Given the description of an element on the screen output the (x, y) to click on. 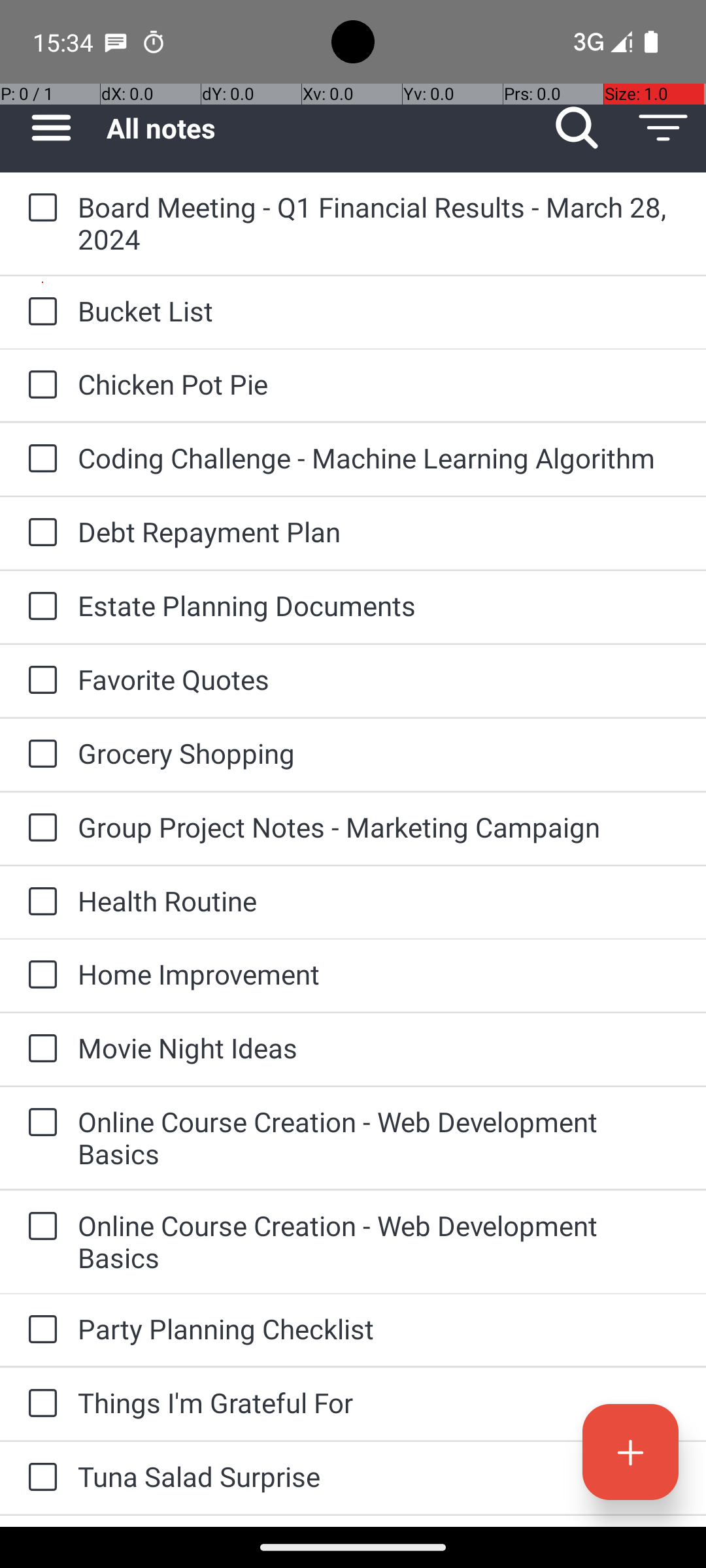
to-do: Bucket List Element type: android.widget.CheckBox (38, 312)
Bucket List Element type: android.widget.TextView (378, 310)
to-do: Chicken Pot Pie Element type: android.widget.CheckBox (38, 385)
Chicken Pot Pie Element type: android.widget.TextView (378, 383)
to-do: Debt Repayment Plan Element type: android.widget.CheckBox (38, 533)
Debt Repayment Plan Element type: android.widget.TextView (378, 531)
to-do: Estate Planning Documents Element type: android.widget.CheckBox (38, 606)
Estate Planning Documents Element type: android.widget.TextView (378, 604)
to-do: Favorite Quotes Element type: android.widget.CheckBox (38, 680)
Favorite Quotes Element type: android.widget.TextView (378, 678)
to-do: Grocery Shopping Element type: android.widget.CheckBox (38, 754)
to-do: Health Routine Element type: android.widget.CheckBox (38, 902)
to-do: Home Improvement Element type: android.widget.CheckBox (38, 975)
Home Improvement Element type: android.widget.TextView (378, 973)
to-do: Movie Night Ideas Element type: android.widget.CheckBox (38, 1049)
Movie Night Ideas Element type: android.widget.TextView (378, 1047)
to-do: Party Planning Checklist Element type: android.widget.CheckBox (38, 1330)
Party Planning Checklist Element type: android.widget.TextView (378, 1328)
to-do: Things I'm Grateful For Element type: android.widget.CheckBox (38, 1403)
Things I'm Grateful For Element type: android.widget.TextView (378, 1402)
to-do: Tuna Salad Surprise Element type: android.widget.CheckBox (38, 1477)
Tuna Salad Surprise Element type: android.widget.TextView (378, 1475)
to-do: Wi-Fi Password Element type: android.widget.CheckBox (38, 1520)
